Given the description of an element on the screen output the (x, y) to click on. 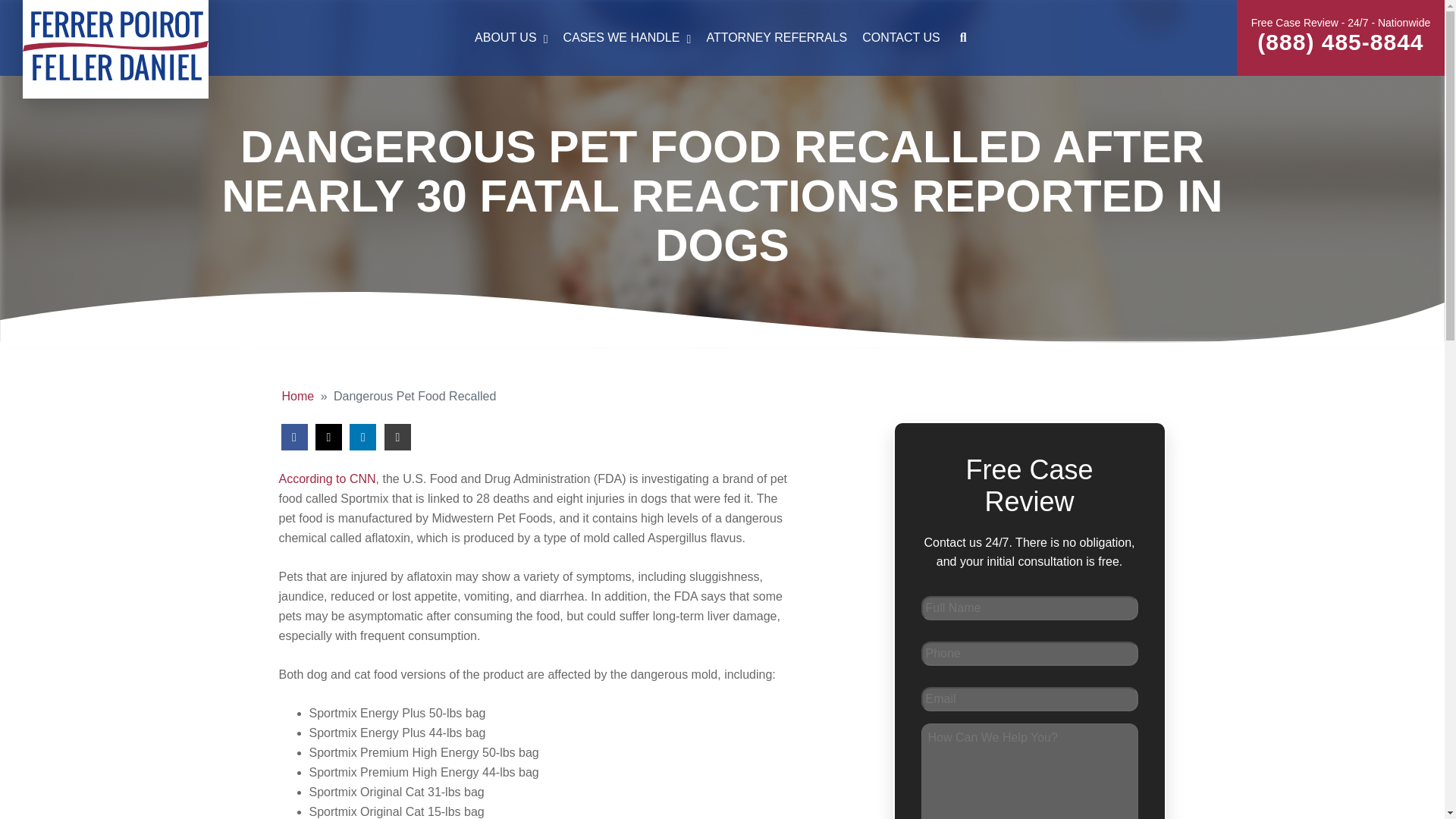
CASES WE HANDLE (627, 37)
According to CNN (327, 478)
Home (298, 395)
ATTORNEY REFERRALS (776, 37)
CONTACT US (900, 37)
ABOUT US (722, 37)
